Given the description of an element on the screen output the (x, y) to click on. 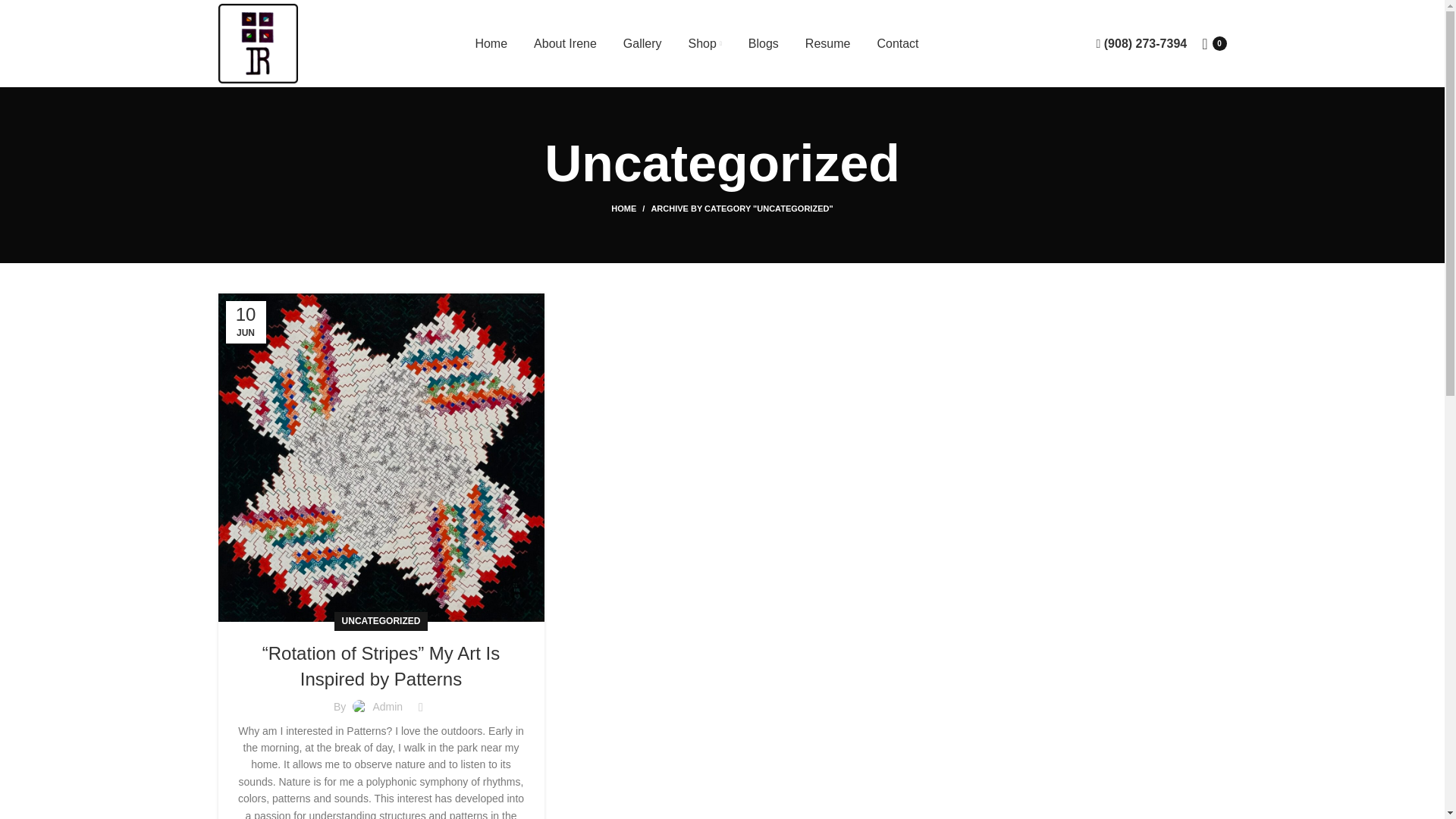
Admin (387, 706)
Shop (705, 43)
UNCATEGORIZED (381, 620)
Shopping cart (1213, 43)
About Irene (565, 43)
Gallery (642, 43)
Home (490, 43)
0 (1213, 43)
Blogs (763, 43)
Resume (827, 43)
HOME (630, 208)
Contact (897, 43)
